Given the description of an element on the screen output the (x, y) to click on. 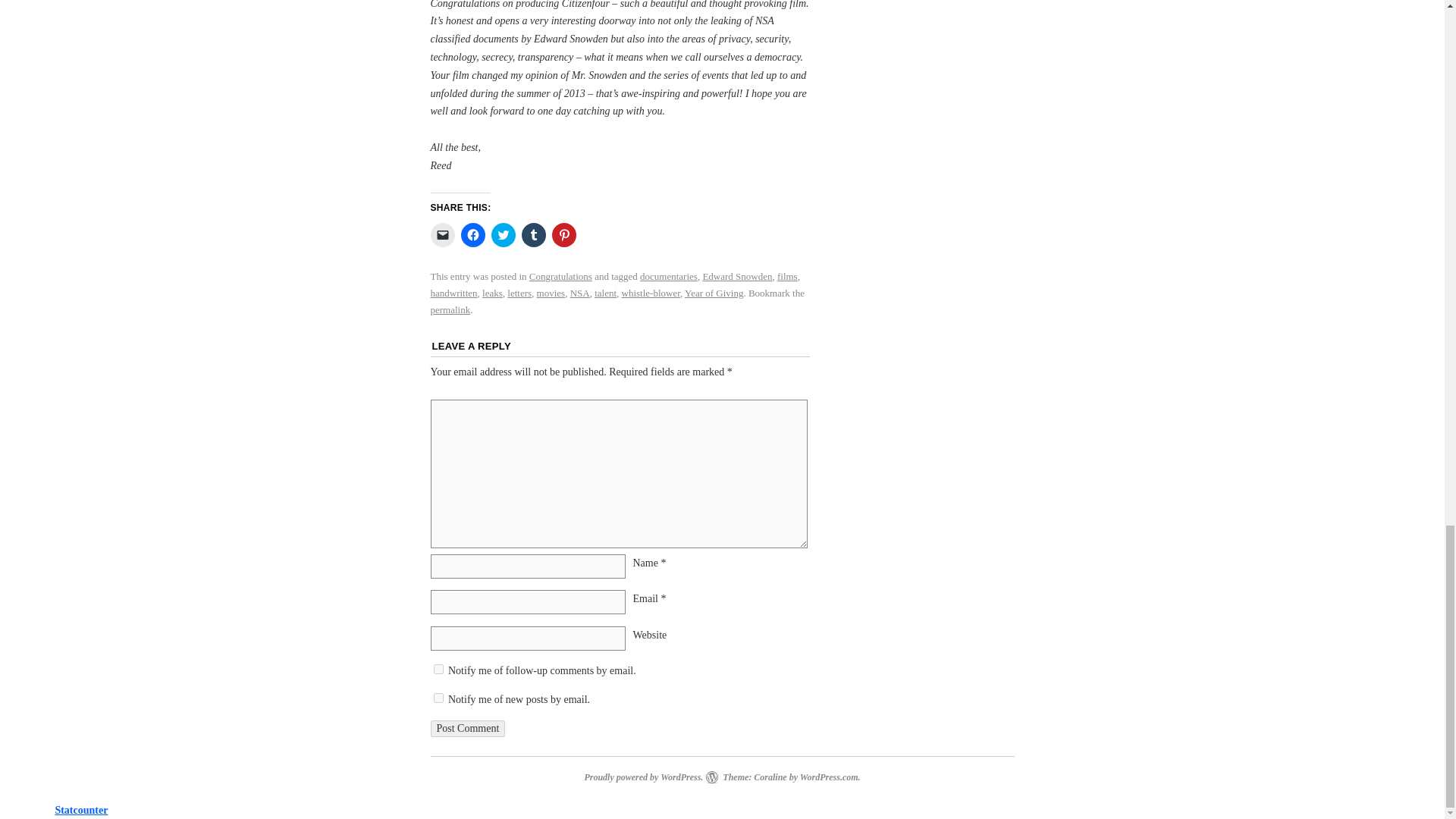
permalink (450, 309)
Click to share on Twitter (503, 234)
whistle-blower (650, 292)
letters (518, 292)
Permalink to Day 20: Katy (450, 309)
handwritten (453, 292)
A Semantic Personal Publishing Platform (643, 777)
subscribe (438, 669)
Post Comment (467, 728)
subscribe (438, 697)
Click to share on Pinterest (563, 234)
Click to share on Tumblr (533, 234)
leaks (491, 292)
Congratulations (560, 276)
movies (551, 292)
